Given the description of an element on the screen output the (x, y) to click on. 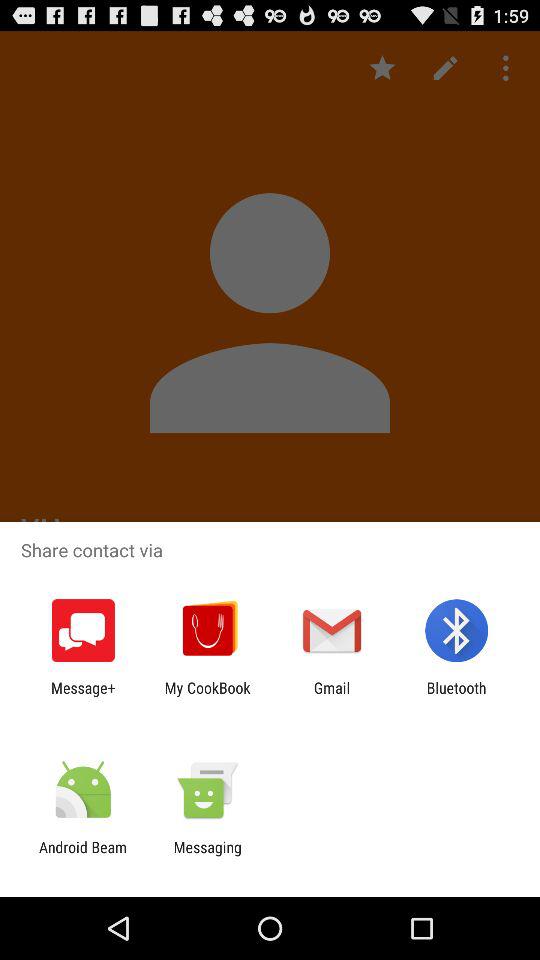
click item to the right of my cookbook icon (331, 696)
